Given the description of an element on the screen output the (x, y) to click on. 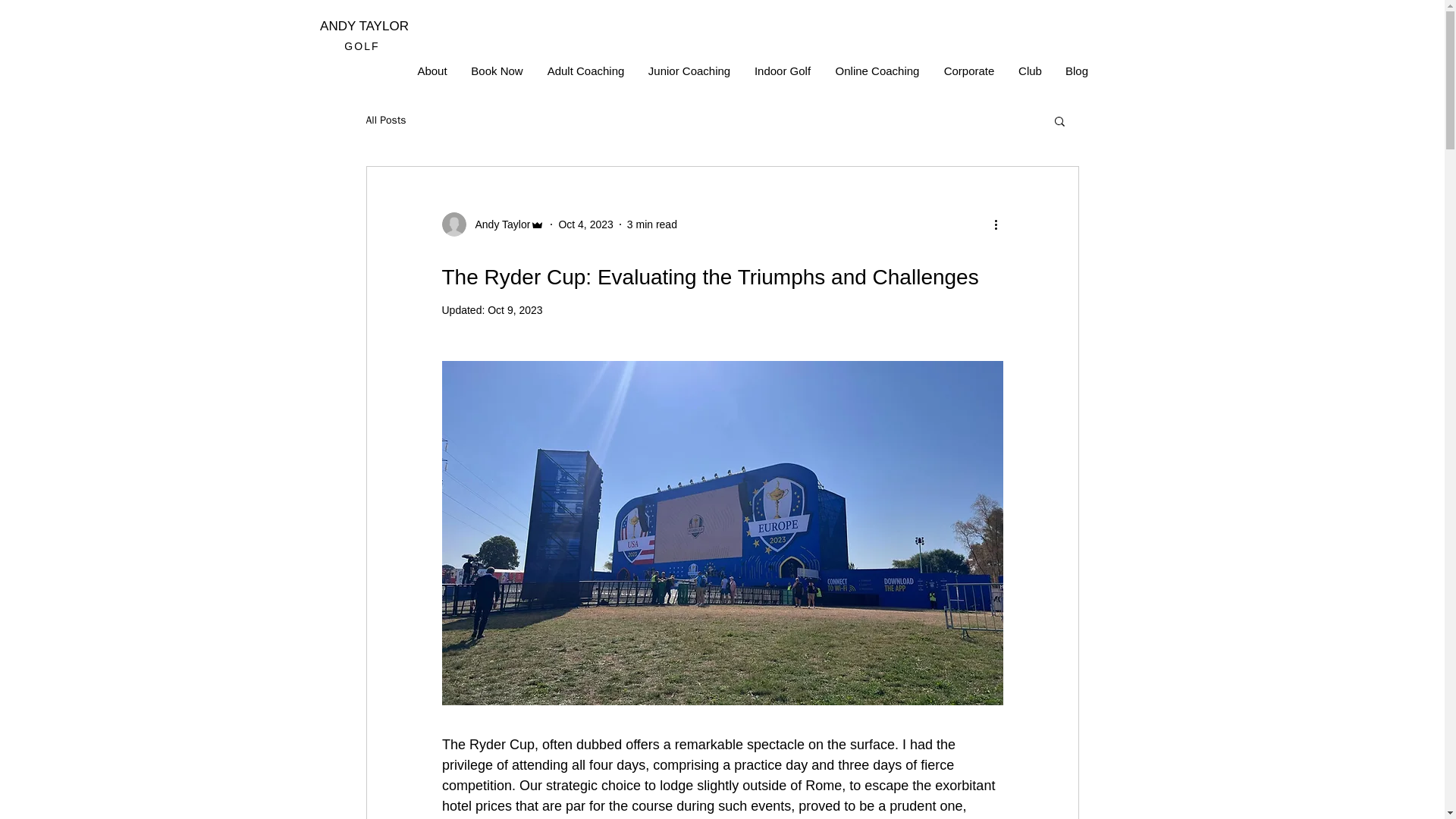
Online Coaching (877, 71)
ANDY TAYLOR (364, 25)
All Posts (385, 120)
Junior Coaching (689, 71)
Andy Taylor (492, 224)
Corporate (968, 71)
Oct 4, 2023 (584, 224)
Oct 9, 2023 (514, 309)
Adult Coaching (586, 71)
Book Now (497, 71)
